Given the description of an element on the screen output the (x, y) to click on. 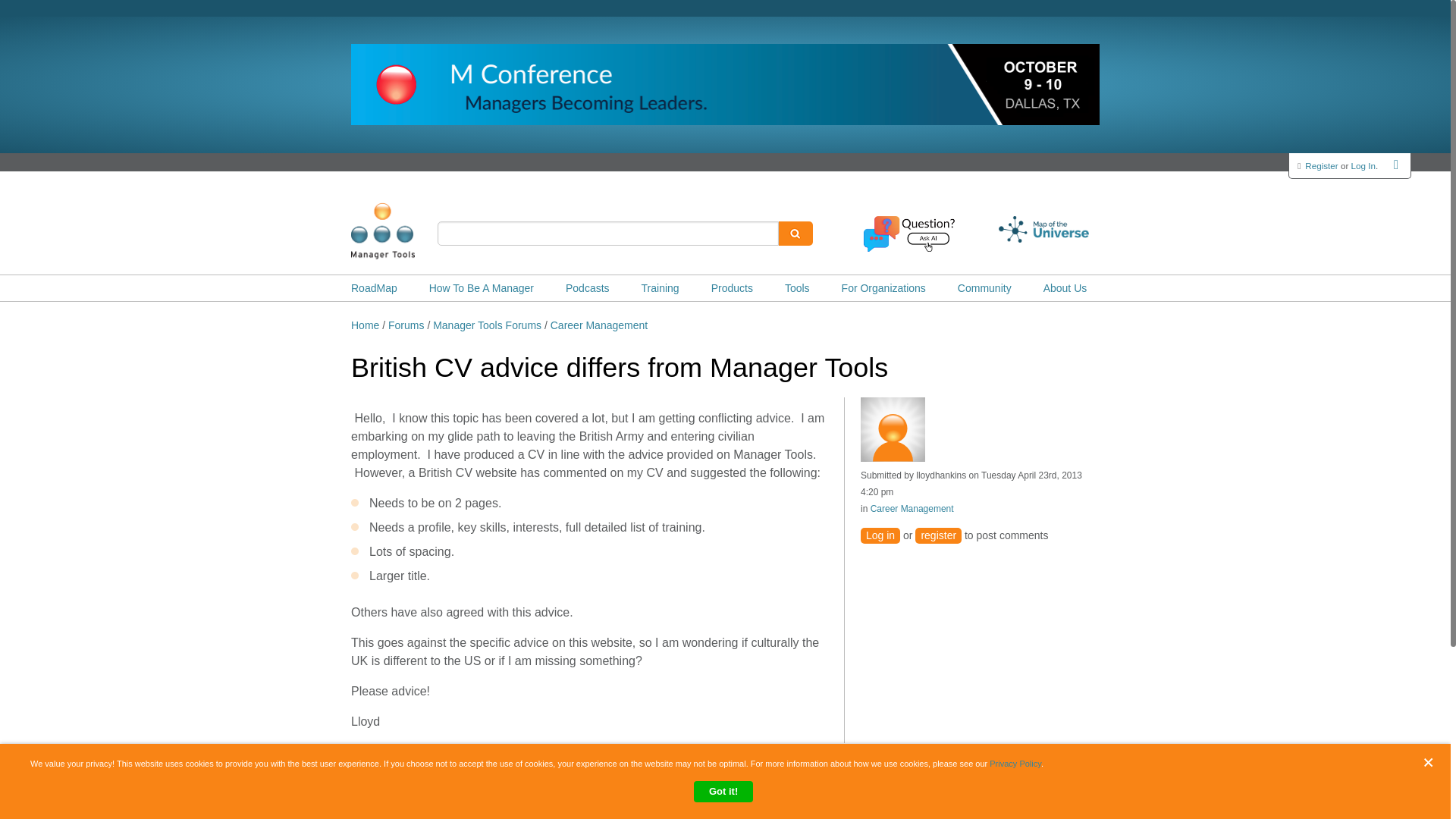
Got it! (723, 791)
Podcasts (588, 288)
Training (660, 288)
Privacy Policy (1015, 763)
Close (1431, 762)
About Cookie Control (37, 769)
How To Be A Manager (481, 288)
RoadMap (373, 288)
Search (795, 233)
Log In (1363, 165)
About Cookie Control (37, 769)
Home (406, 231)
Enter the terms you wish to search for. (608, 233)
Register (1321, 165)
Search (795, 233)
